Given the description of an element on the screen output the (x, y) to click on. 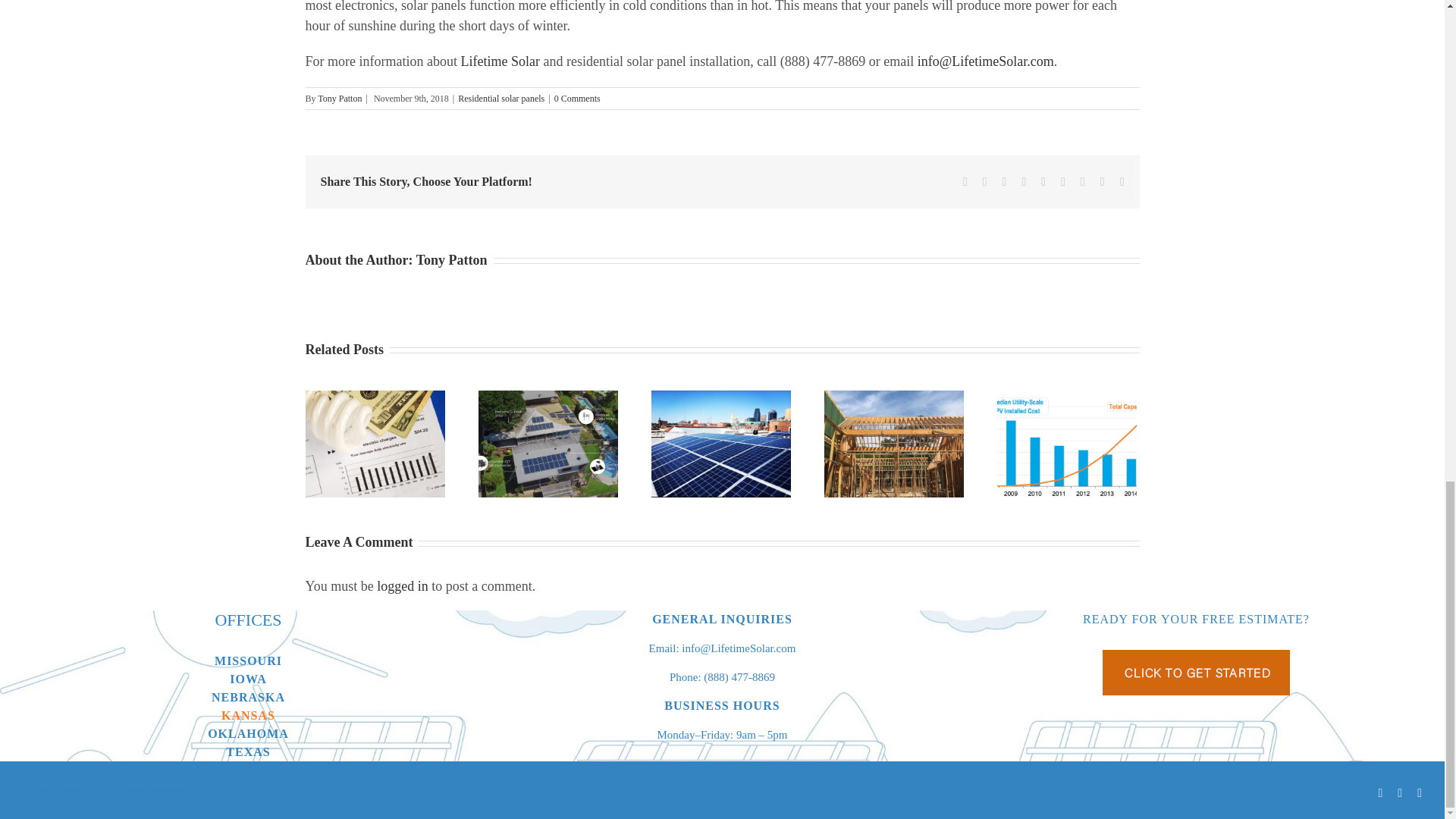
Lifetime Solar (499, 61)
Posts by Tony Patton (339, 98)
Posts by Tony Patton (451, 259)
